Given the description of an element on the screen output the (x, y) to click on. 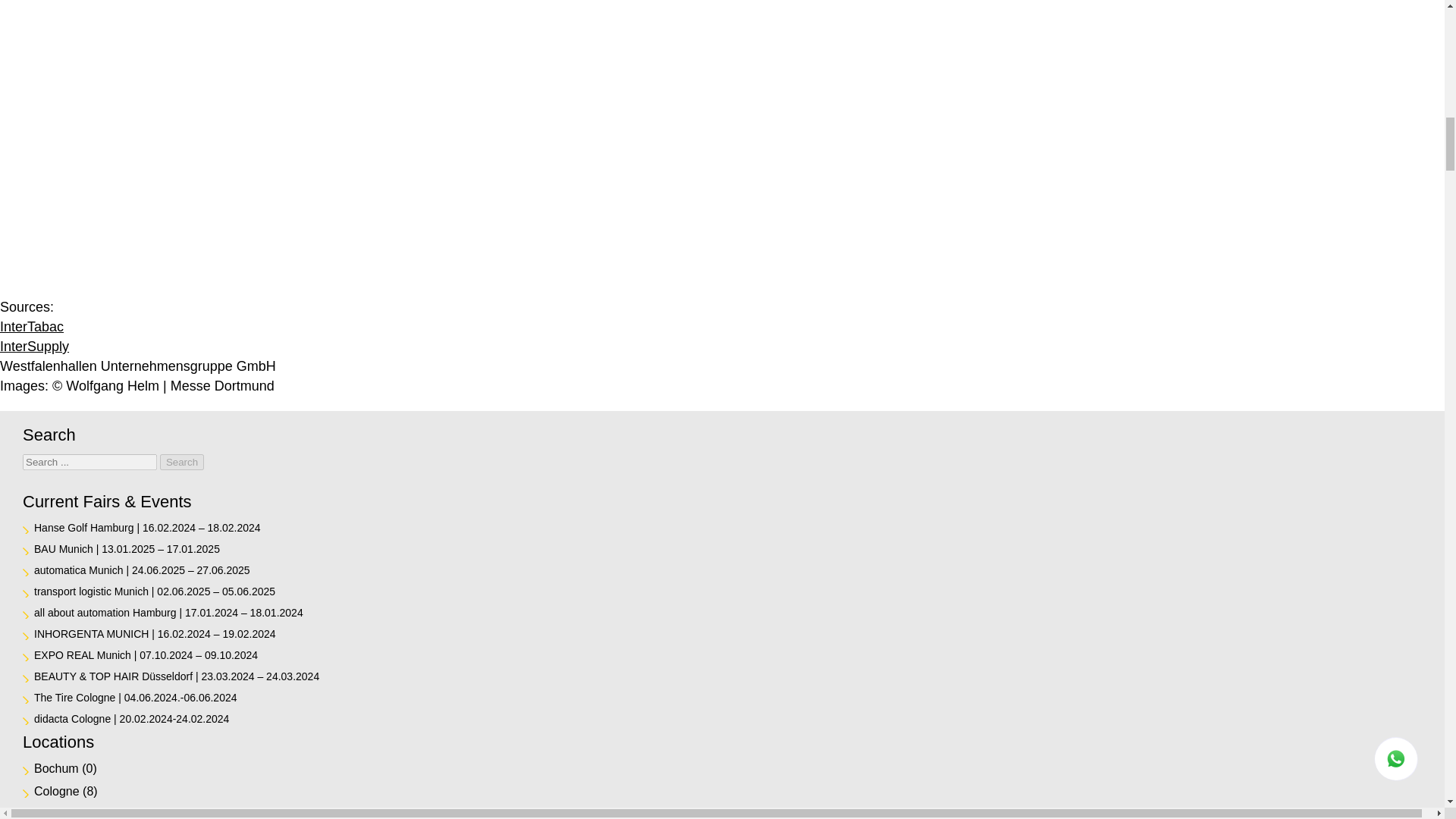
Search for: (90, 462)
